Given the description of an element on the screen output the (x, y) to click on. 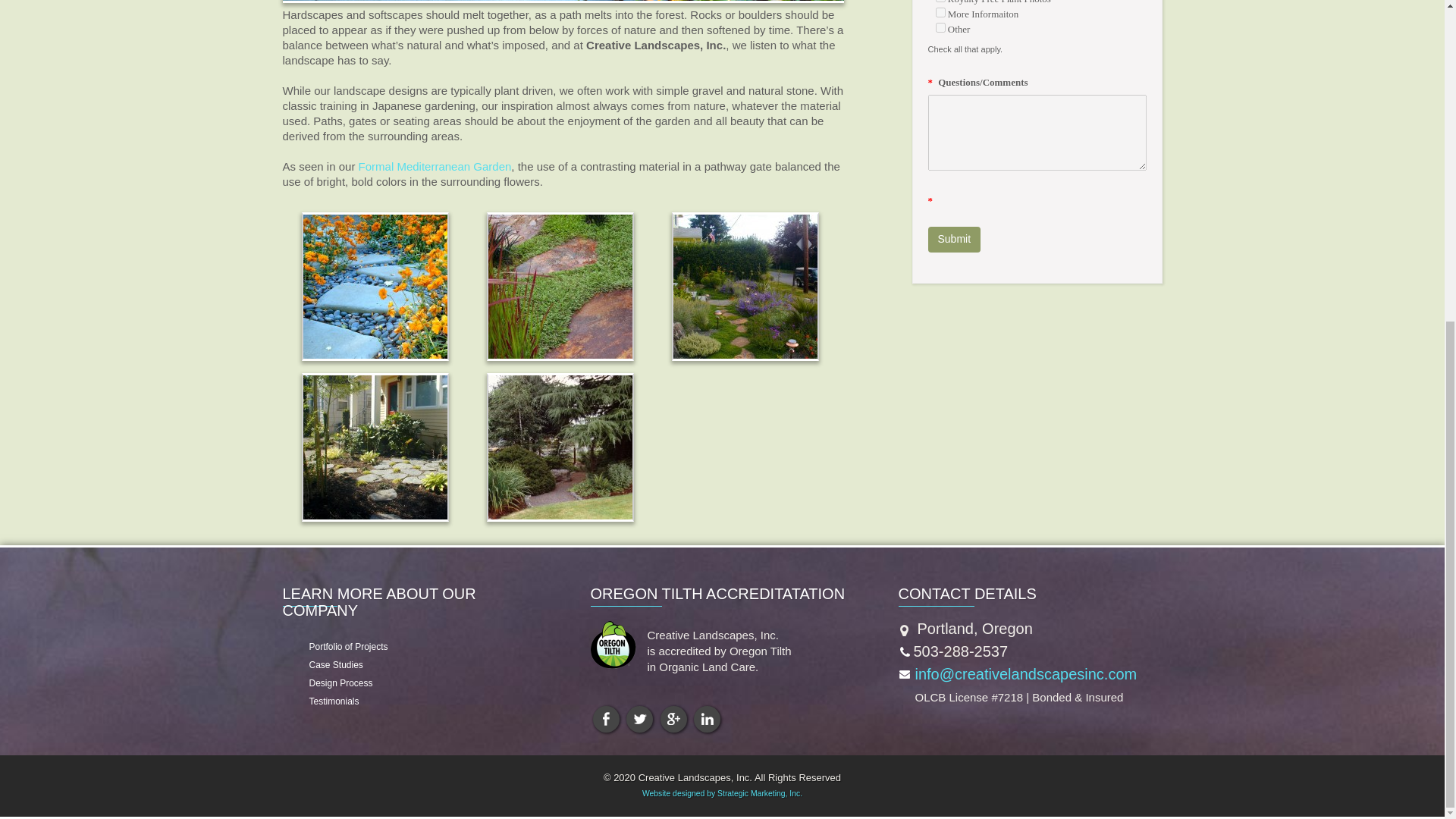
linkedin (707, 718)
Design Process (333, 683)
Portfolio of Projects (341, 646)
Testimonials (326, 701)
Submit (954, 239)
Strategic Marketing, Inc. (759, 793)
twitter (639, 718)
More Informaiton (940, 12)
Case Studies (328, 665)
google-plus (674, 718)
Submit (954, 239)
Formal Mediterranean Garden (435, 165)
Other (940, 27)
Formal Mediterranean Garden (435, 165)
